Given the description of an element on the screen output the (x, y) to click on. 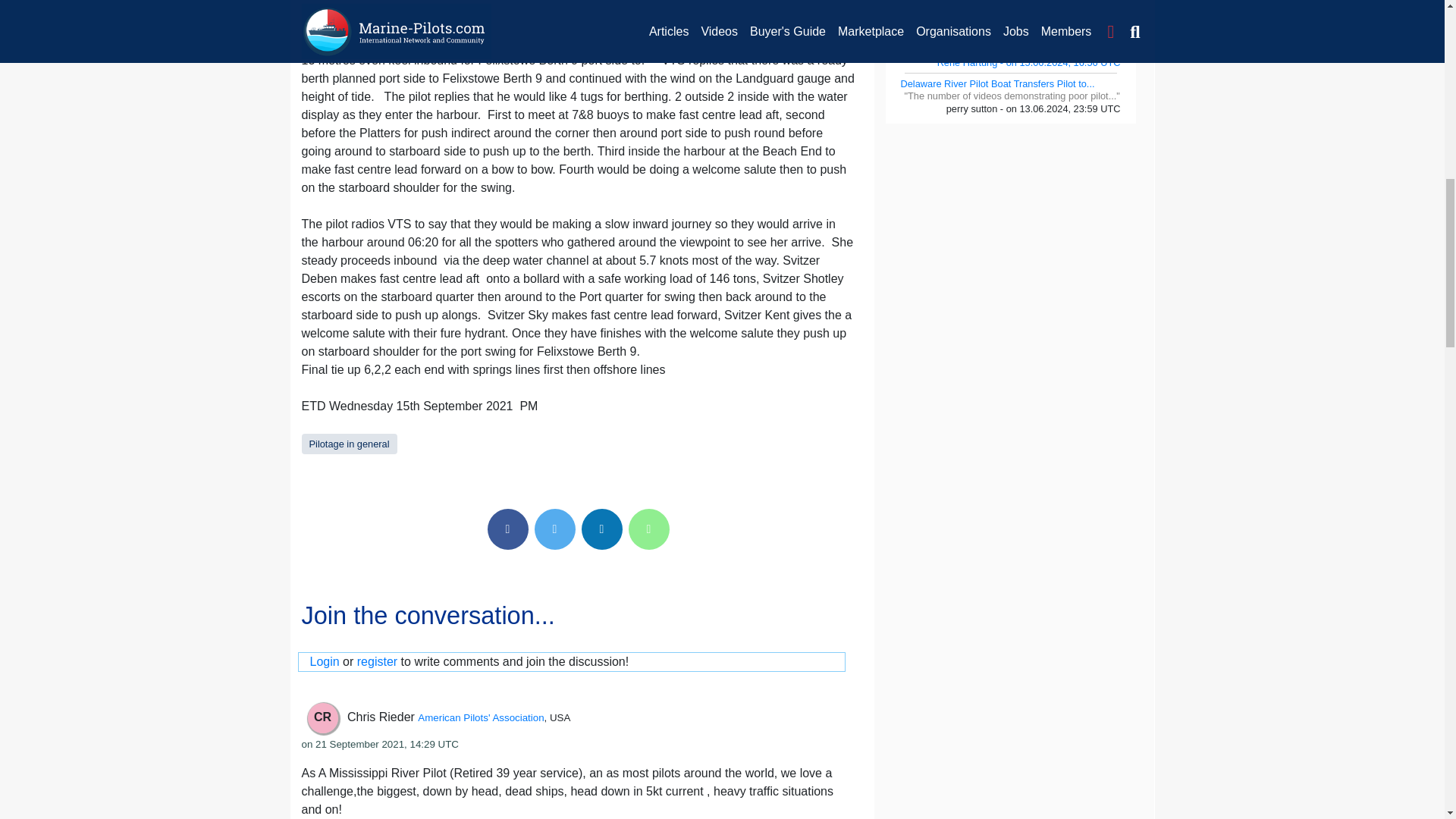
Pilotage in general (349, 443)
register (376, 661)
Login (323, 661)
Pilotage in general (349, 443)
American Pilots' Association (480, 717)
